Given the description of an element on the screen output the (x, y) to click on. 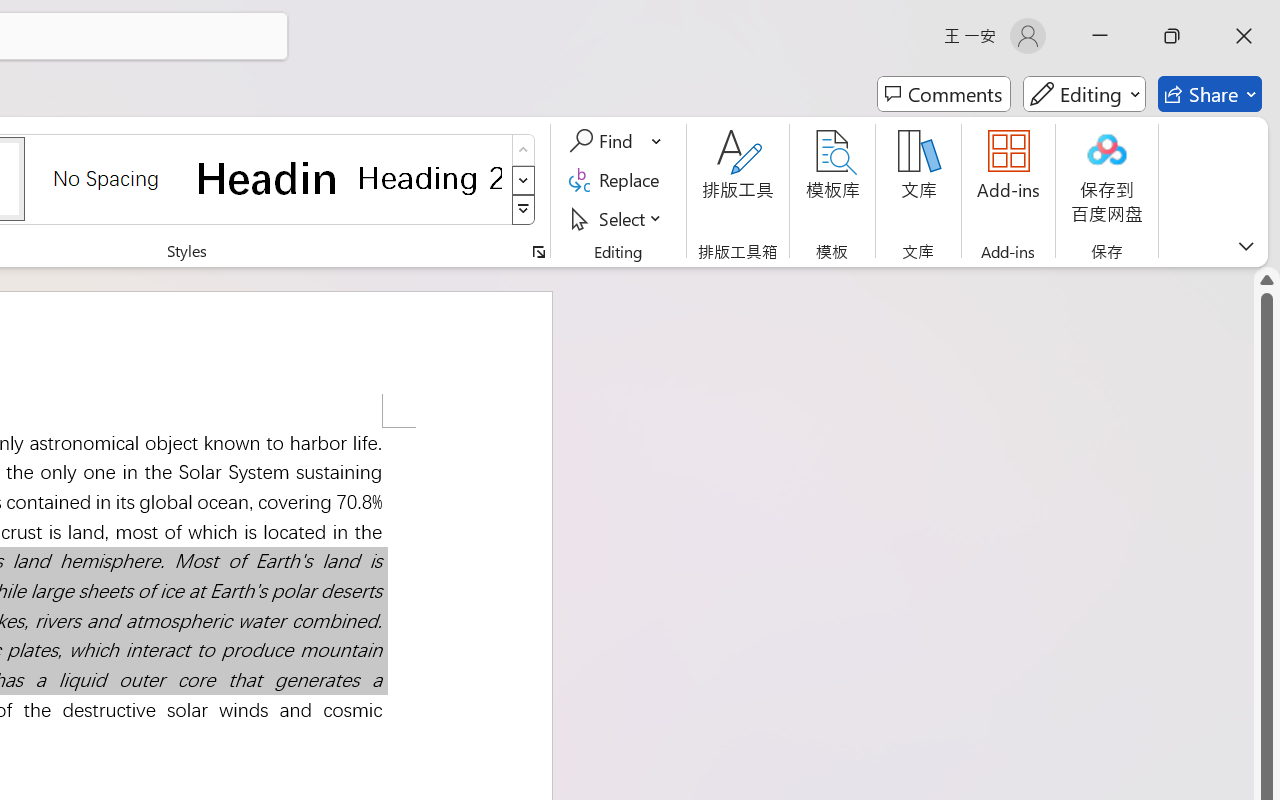
Replace... (617, 179)
Heading 2 (429, 178)
Heading 1 (267, 178)
Line up (1267, 279)
